Given the description of an element on the screen output the (x, y) to click on. 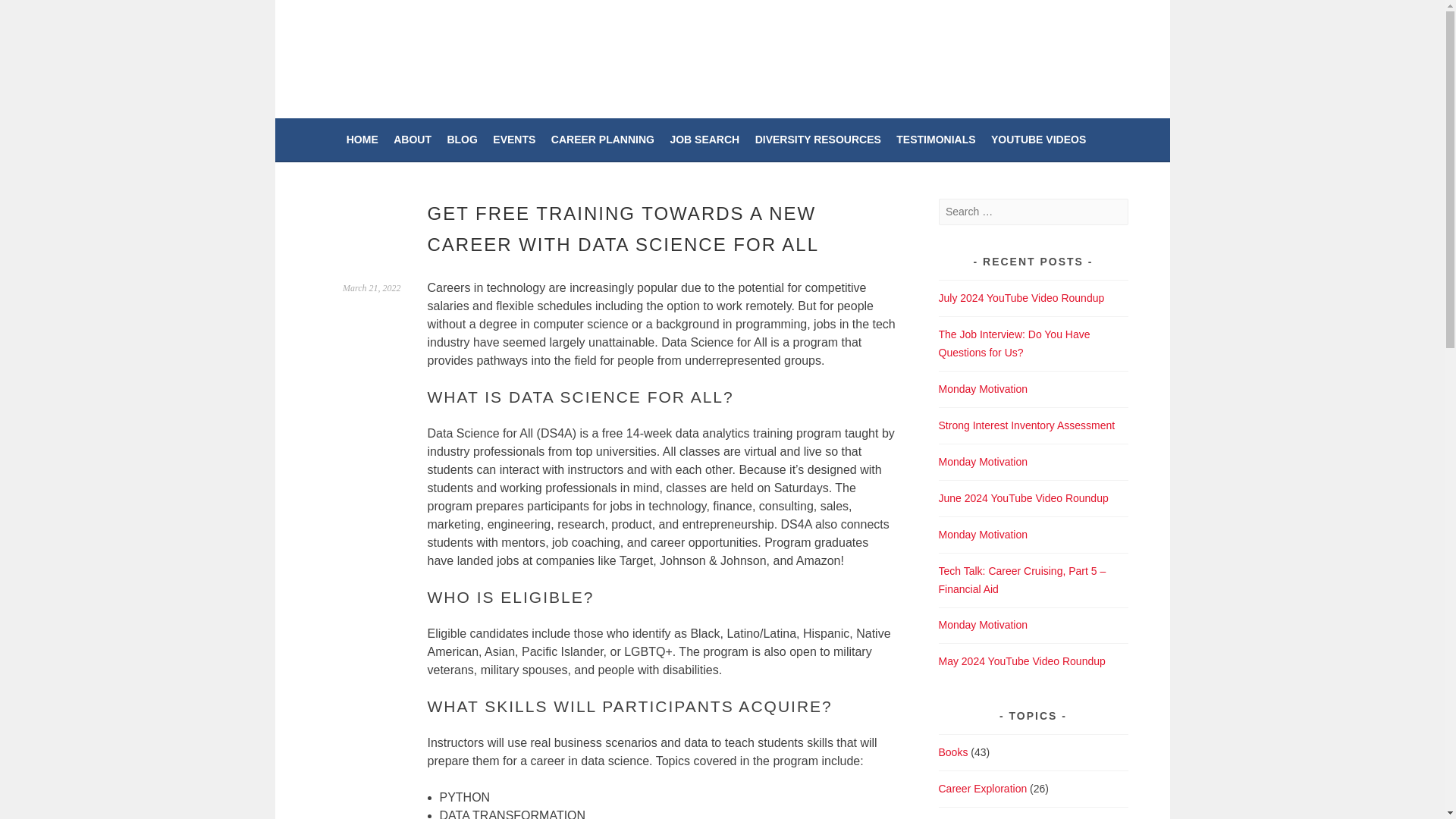
BATON ROUGE CAREER CENTER (554, 53)
CAREER PLANNING (602, 139)
ABOUT (411, 139)
Baton Rouge Career Center (554, 53)
HOME (362, 139)
BLOG (461, 139)
JOB SEARCH (704, 139)
DIVERSITY RESOURCES (817, 139)
EVENTS (514, 139)
